Given the description of an element on the screen output the (x, y) to click on. 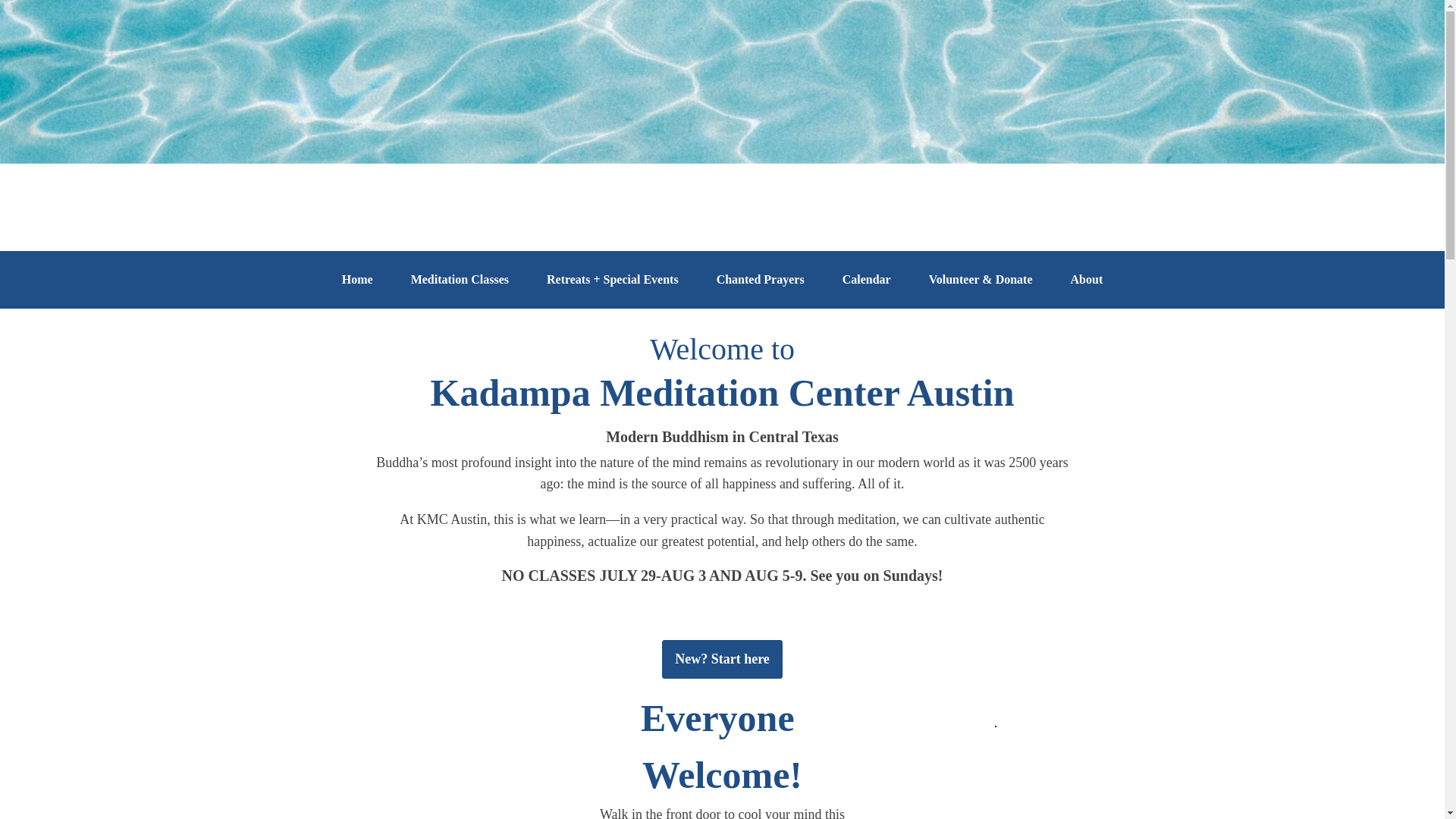
About (1086, 279)
Calendar (866, 279)
Meditation Classes (459, 279)
Home (357, 279)
Chanted Prayers (760, 279)
